Given the description of an element on the screen output the (x, y) to click on. 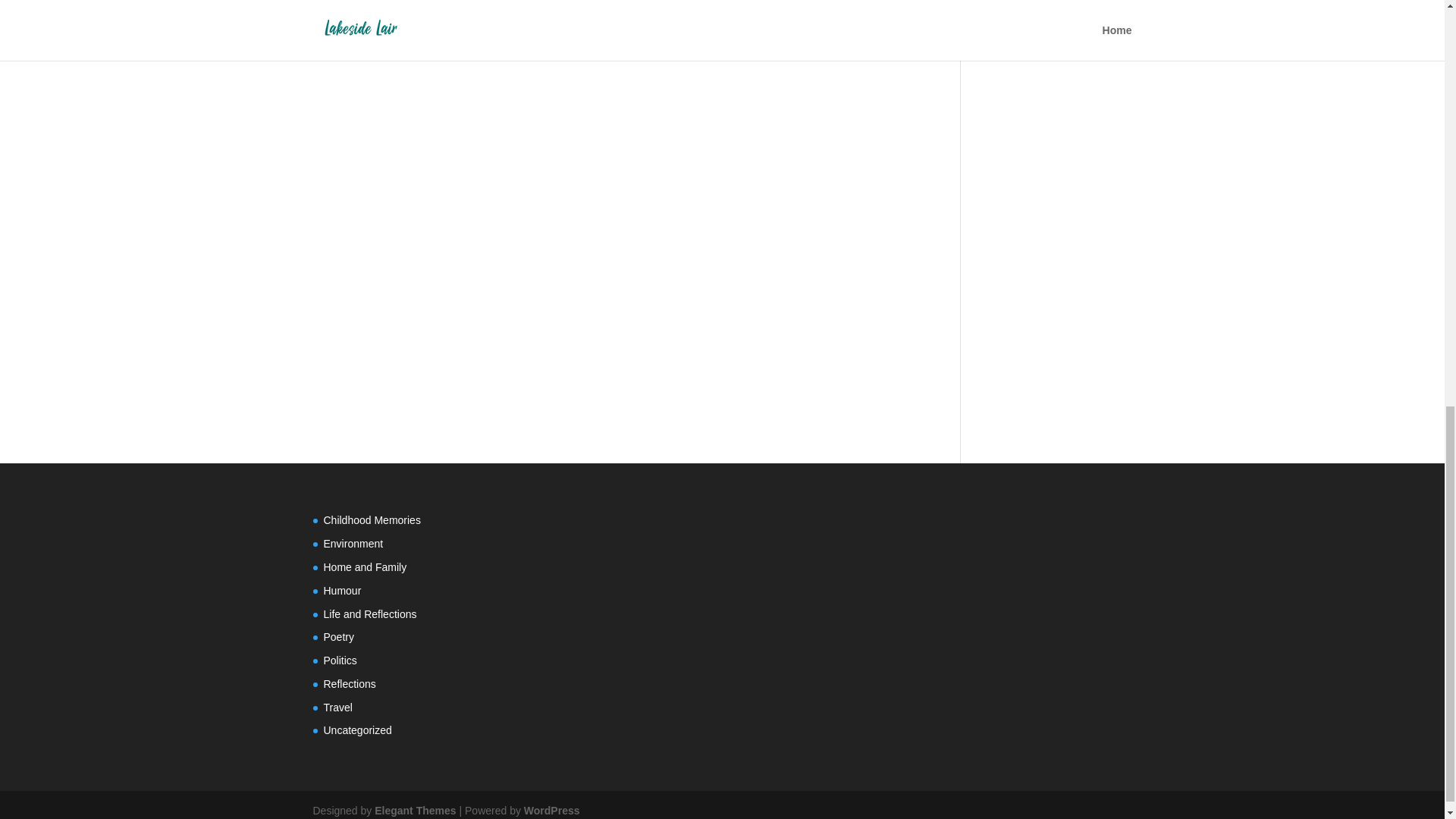
Poetry (338, 636)
Reflections (349, 684)
Premium WordPress Themes (414, 810)
Travel (337, 707)
Life and Reflections (369, 613)
Childhood Memories (371, 520)
Politics (339, 660)
Humour (342, 590)
WordPress (551, 810)
